Given the description of an element on the screen output the (x, y) to click on. 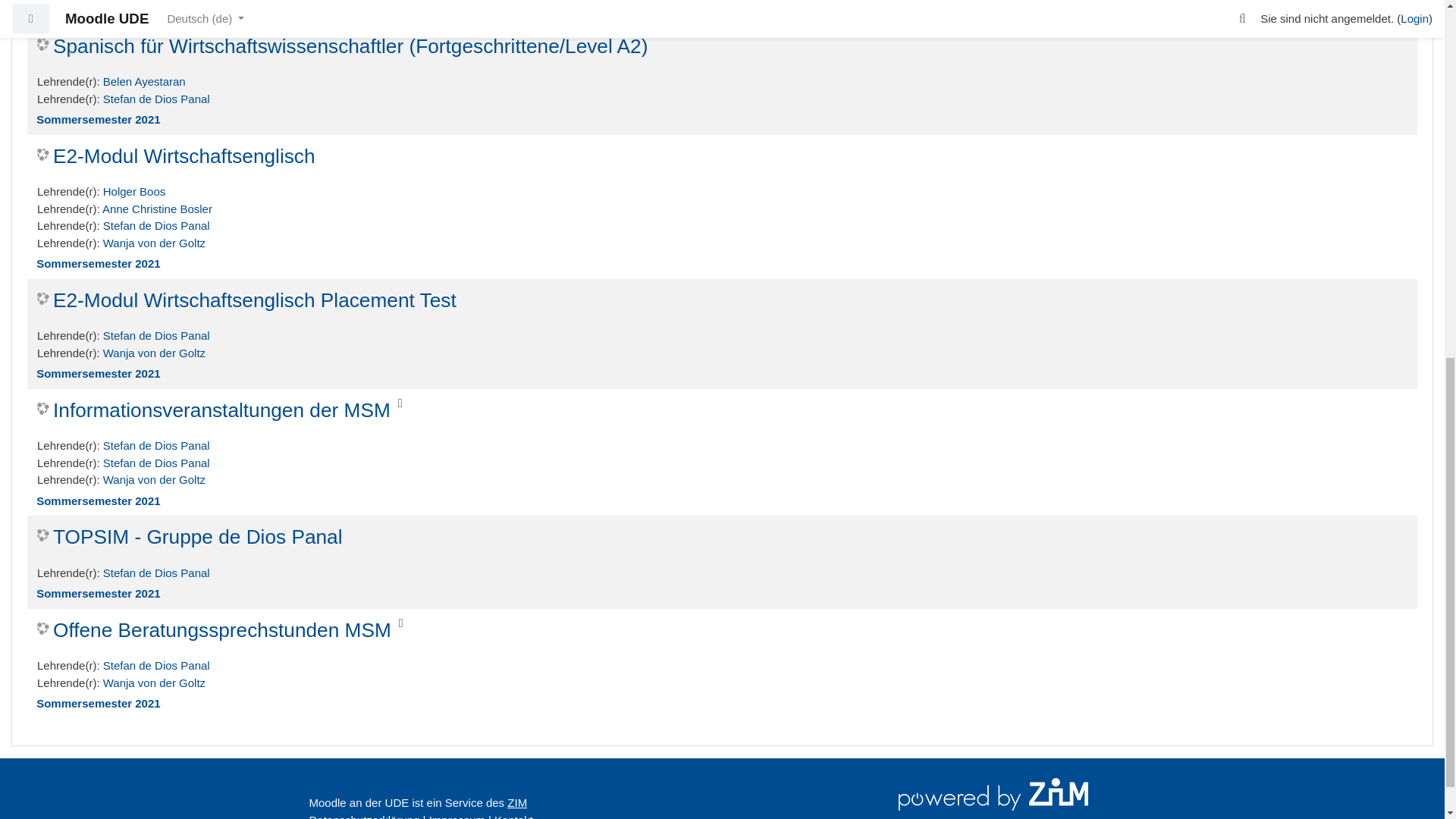
Kursbereich (721, 263)
Kursbereich (721, 593)
Anne Christine Bosler (156, 208)
Sommersemester 2021 (98, 9)
Stefan de Dios Panal (156, 97)
E2-Modul Wirtschaftsenglisch (176, 156)
Selbsteinschreibung (400, 402)
Belen Ayestaran (144, 81)
Kursbereich (721, 119)
Kursbereich (721, 374)
Kursbereich (721, 500)
Holger Boos (134, 191)
Kursbereich (721, 9)
Sommersemester 2021 (98, 119)
